Given the description of an element on the screen output the (x, y) to click on. 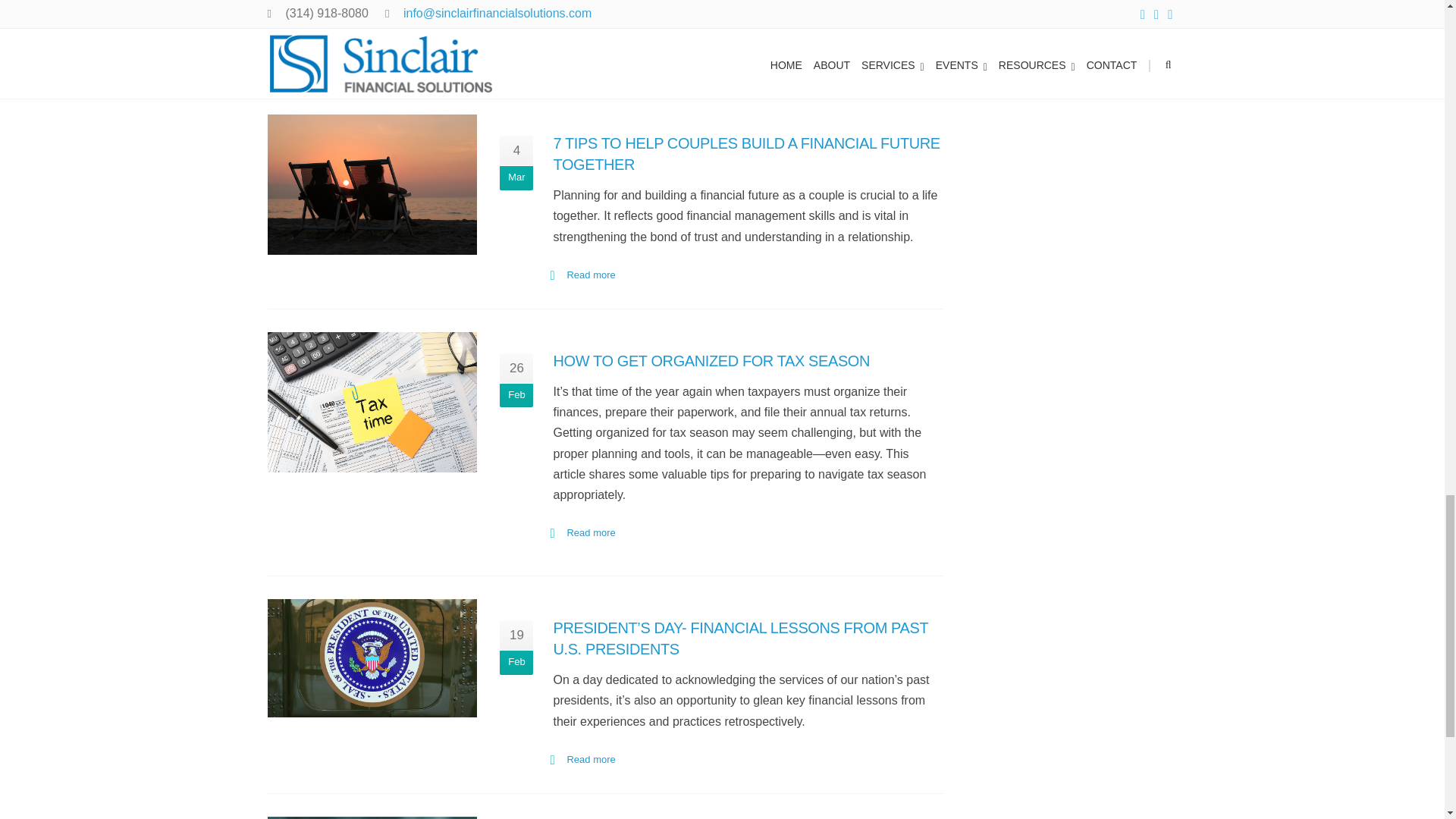
7 Tips to Help Couples Build a Financial Future Together (371, 184)
